Given the description of an element on the screen output the (x, y) to click on. 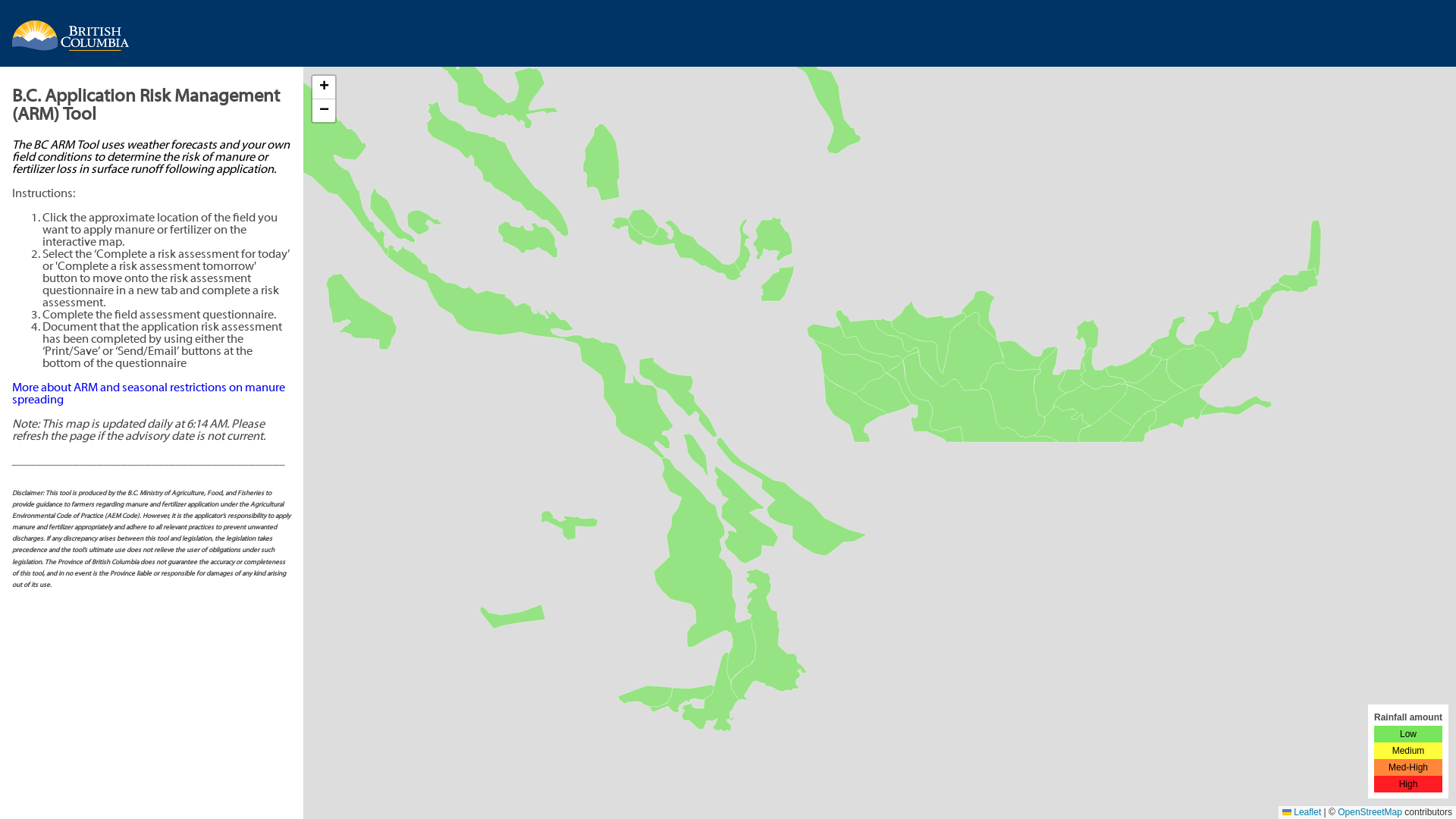
More about ARM and seasonal restrictions on manure spreading Element type: text (148, 394)
OpenStreetMap Element type: text (1369, 811)
Leaflet Element type: text (1301, 811)
+ Element type: text (323, 87)
